Given the description of an element on the screen output the (x, y) to click on. 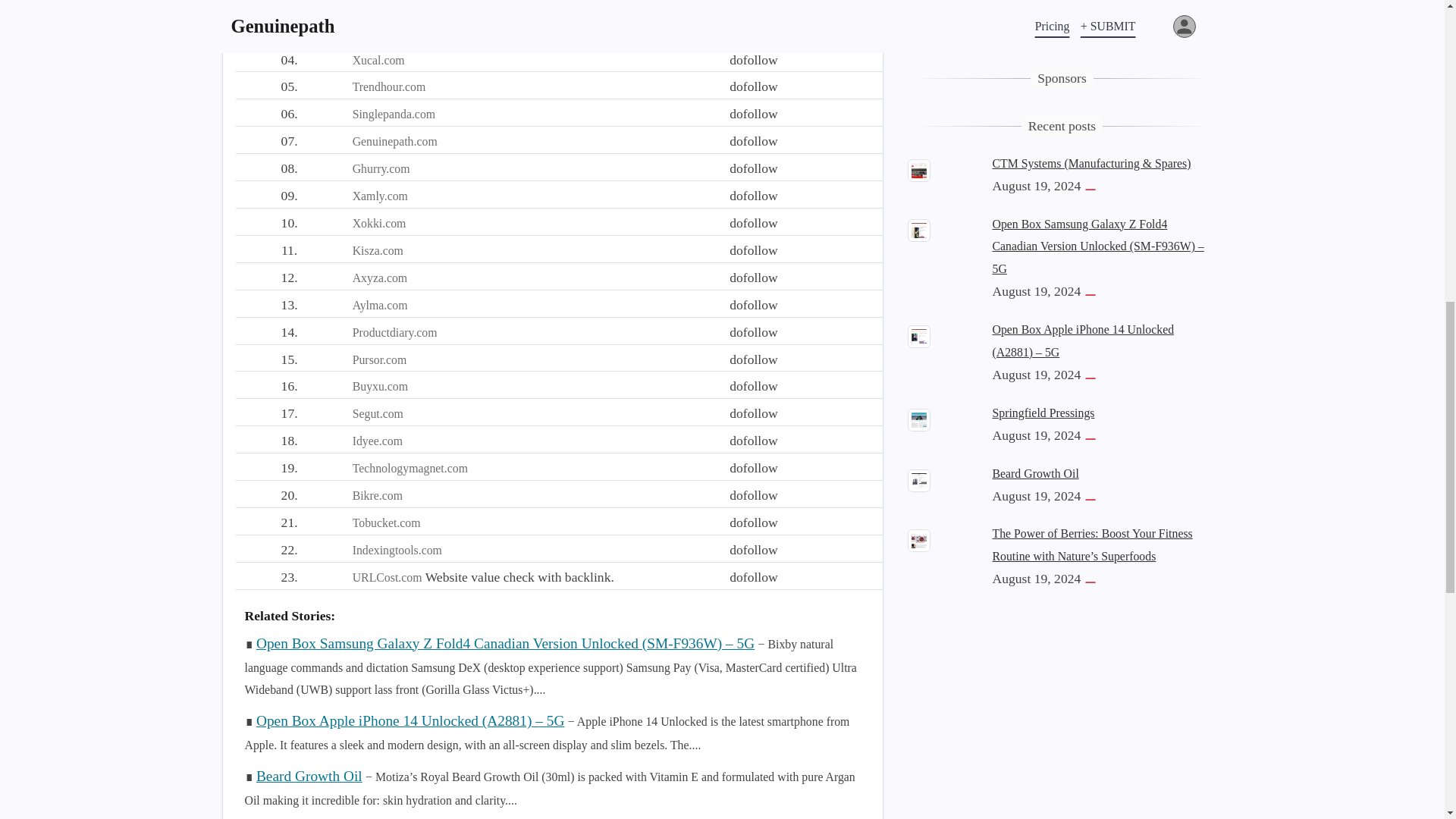
Beard Growth Oil (309, 775)
Kaancy.com (382, 32)
Segut.com (377, 413)
Buyxu.com (379, 386)
Lieel.com (376, 6)
Productdiary.com (395, 332)
Idyee.com (377, 440)
Kisza.com (377, 250)
Xucal.com (378, 60)
Aylma.com (379, 305)
